Given the description of an element on the screen output the (x, y) to click on. 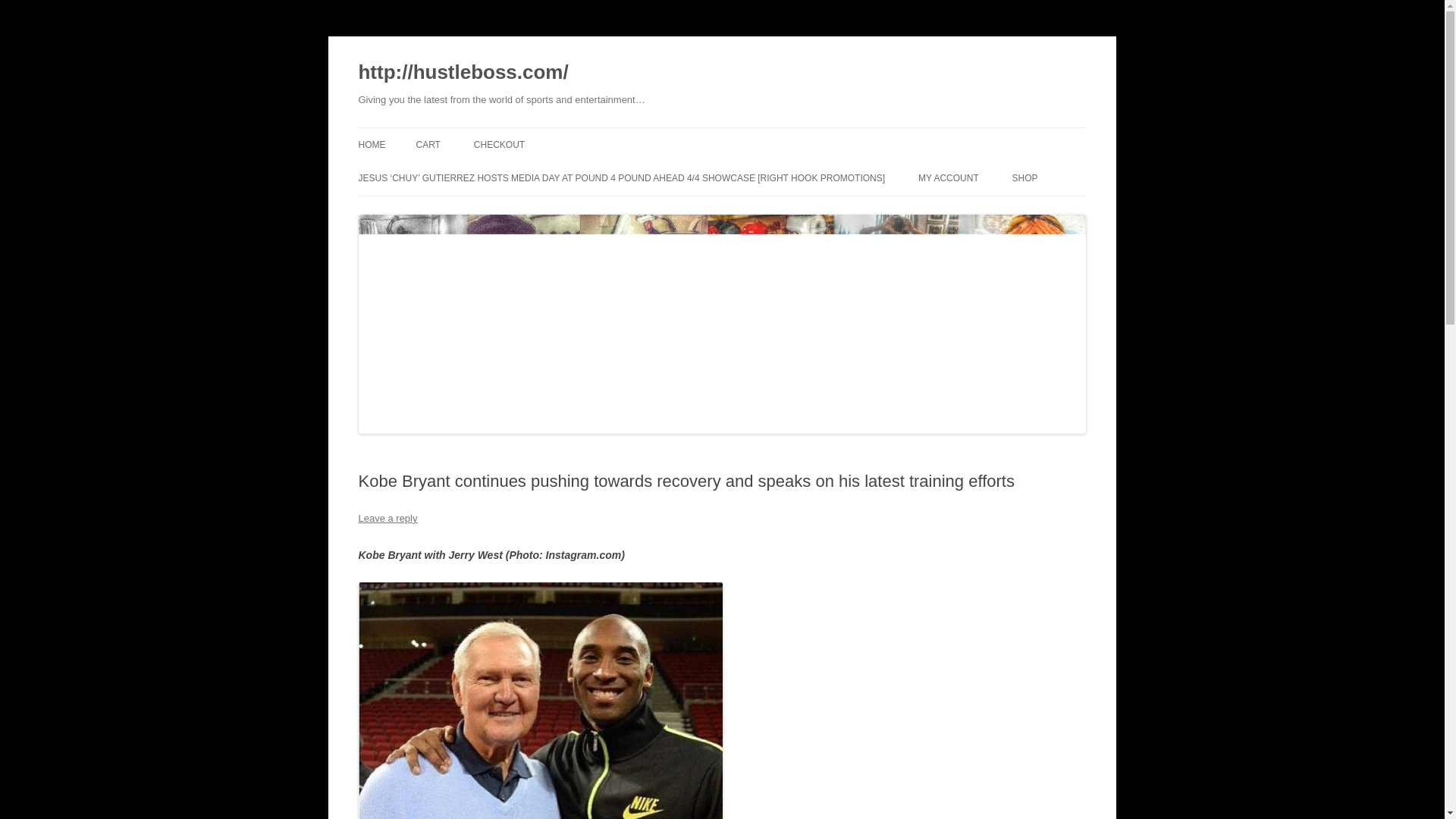
Skip to content (757, 132)
CHECKOUT (499, 144)
MY ACCOUNT (948, 177)
Leave a reply (387, 518)
Skip to content (757, 132)
